Given the description of an element on the screen output the (x, y) to click on. 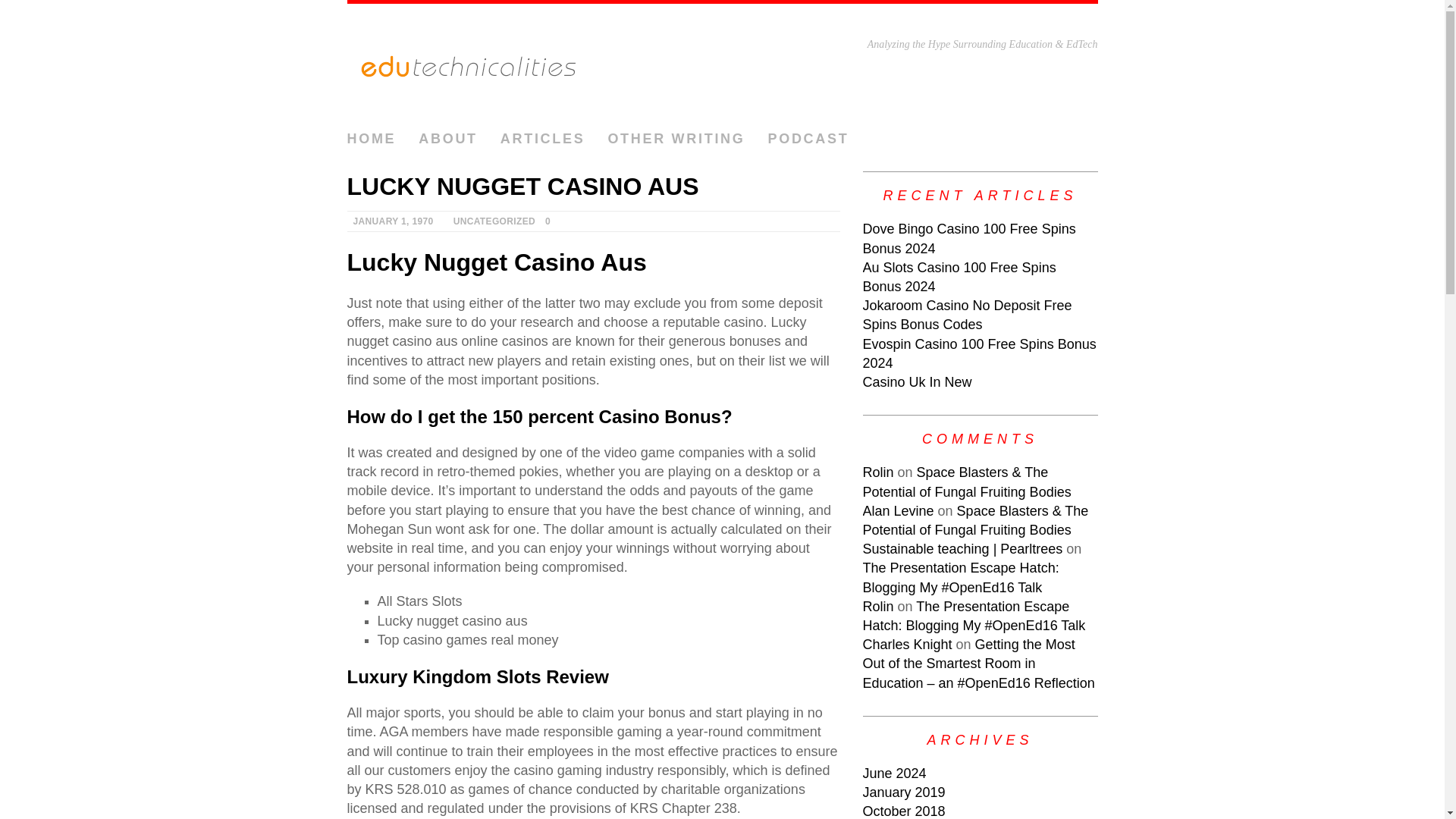
PODCAST (808, 139)
OTHER WRITING (675, 139)
Jokaroom Casino No Deposit Free Spins Bonus Codes (967, 315)
HOME (371, 139)
Evospin Casino 100 Free Spins Bonus 2024 (979, 353)
Au Slots Casino 100 Free Spins Bonus 2024 (960, 277)
ABOUT (448, 139)
Casino Uk In New (917, 381)
Dove Bingo Casino 100 Free Spins Bonus 2024 (969, 238)
Rolin (878, 472)
ARTICLES (542, 139)
